Given the description of an element on the screen output the (x, y) to click on. 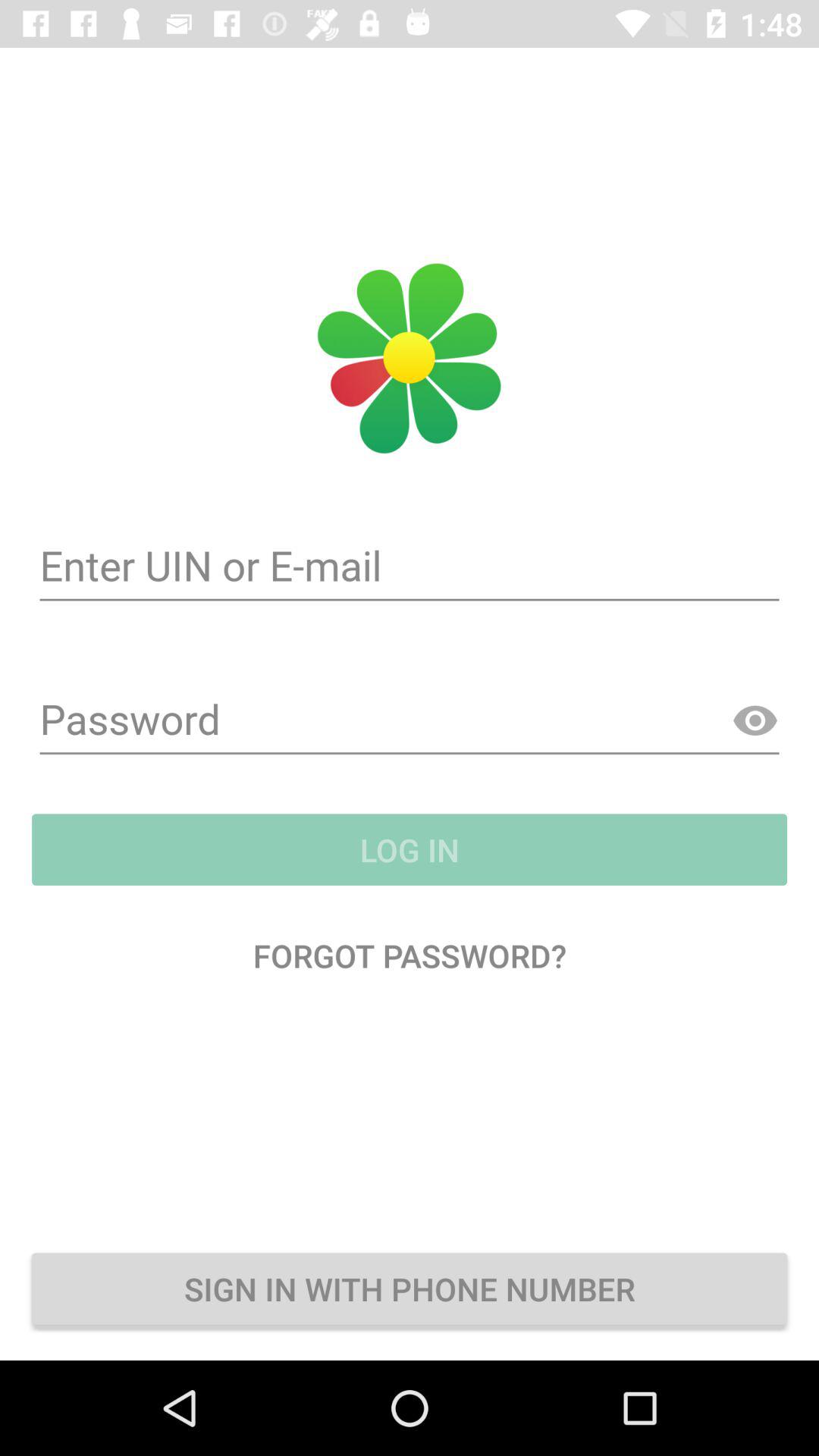
open the log in item (409, 849)
